Given the description of an element on the screen output the (x, y) to click on. 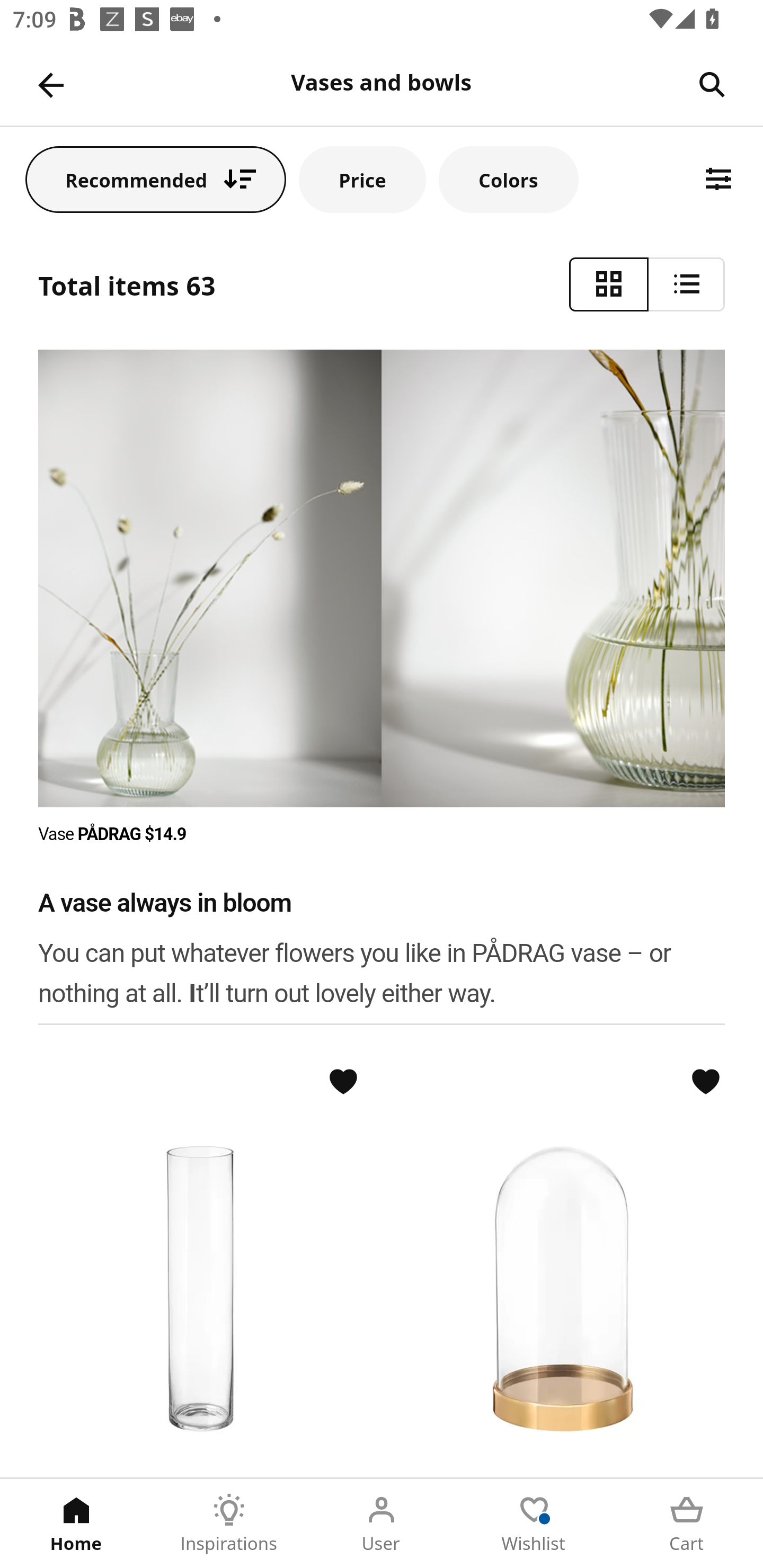
Recommended (155, 179)
Price (362, 179)
Colors (508, 179)
Vase PÅDRAG $14.9 (112, 834)
Home
Tab 1 of 5 (76, 1522)
Inspirations
Tab 2 of 5 (228, 1522)
User
Tab 3 of 5 (381, 1522)
Wishlist
Tab 4 of 5 (533, 1522)
Cart
Tab 5 of 5 (686, 1522)
